Given the description of an element on the screen output the (x, y) to click on. 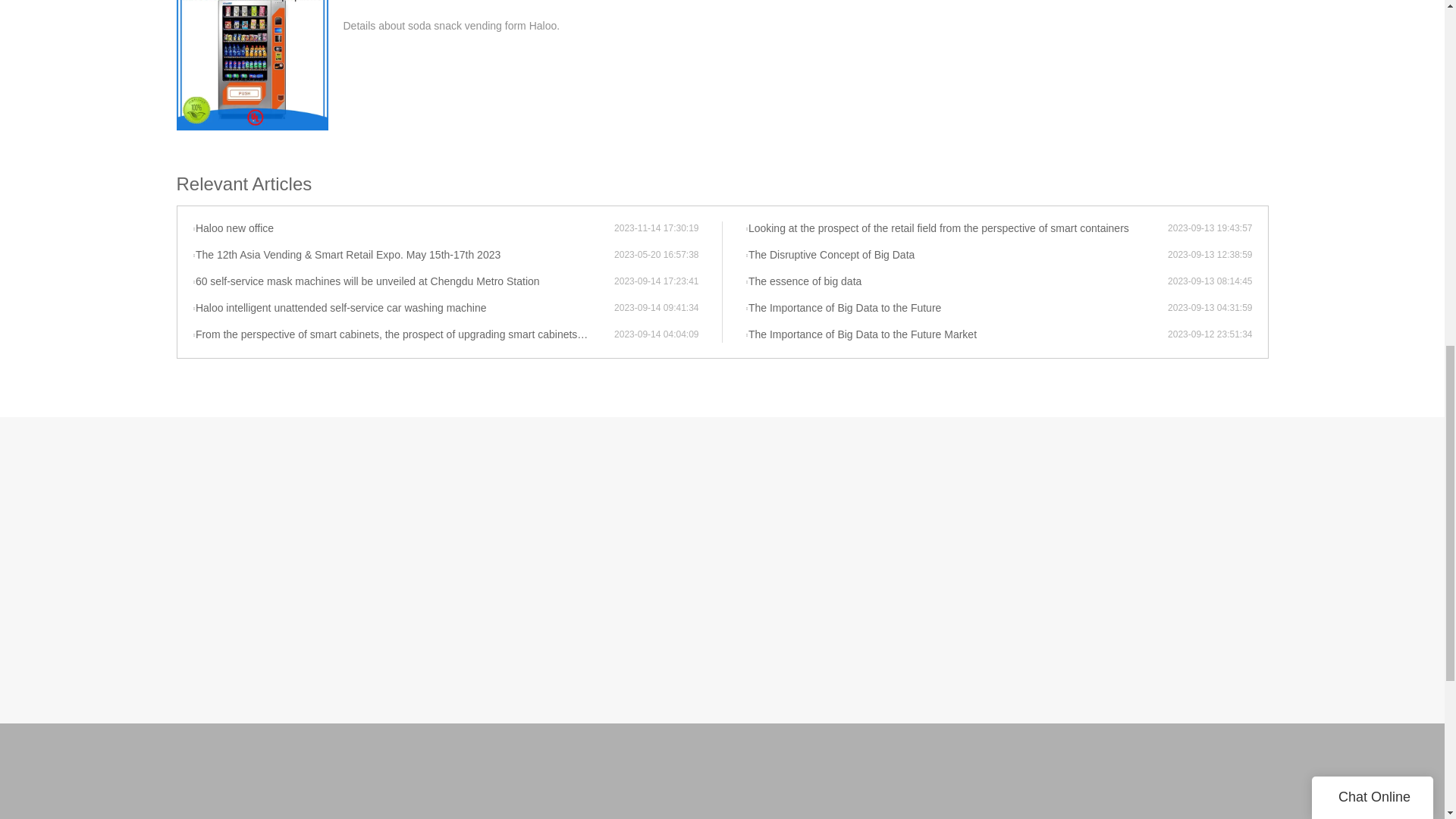
The Importance of Big Data to the Future Market (955, 335)
Haloo new office (403, 228)
The Disruptive Concept of Big Data (955, 255)
The Importance of Big Data to the Future (955, 308)
The essence of big data (955, 281)
